Given the description of an element on the screen output the (x, y) to click on. 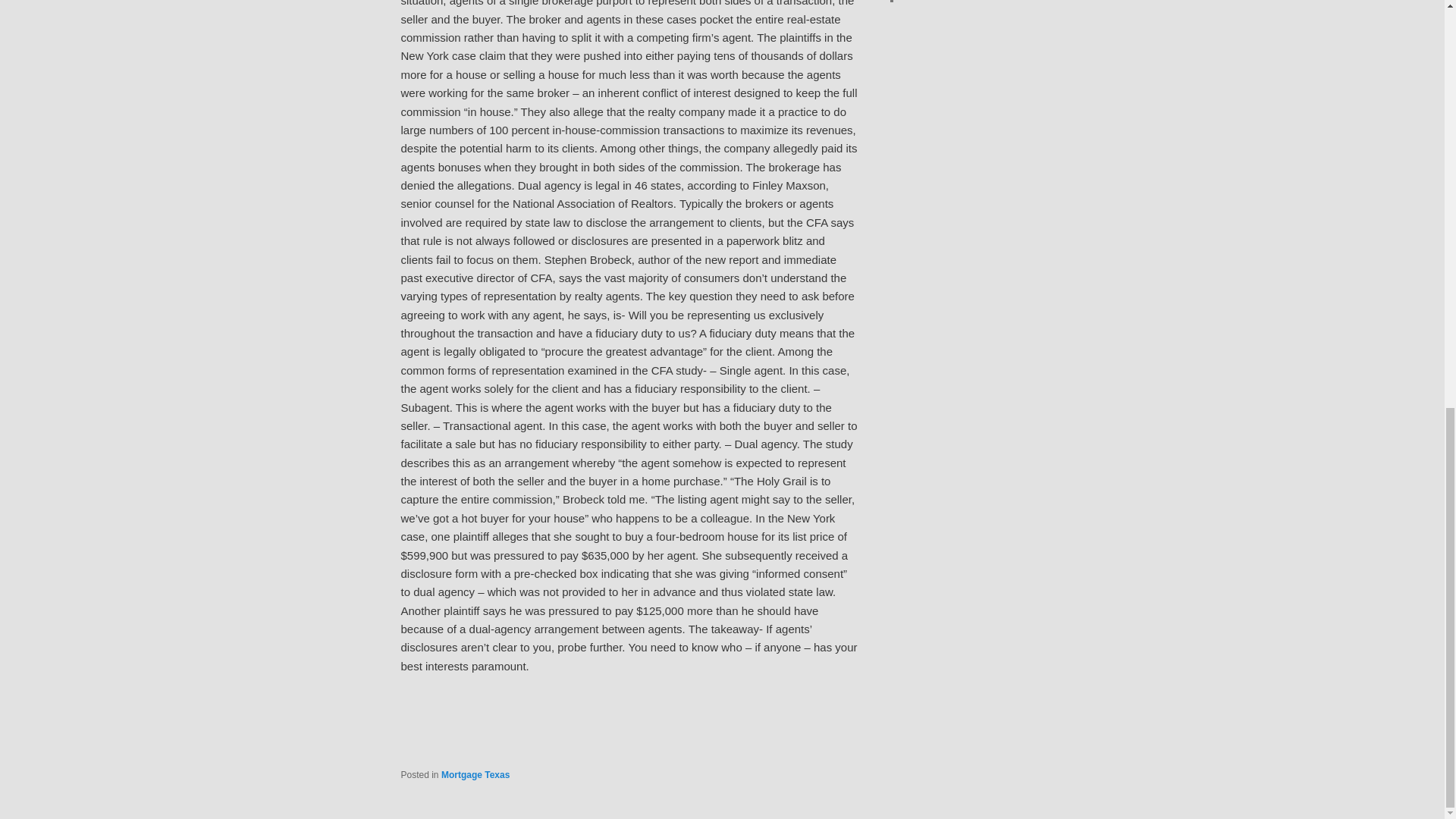
Mortgage Texas (475, 774)
View all posts in Mortgage Texas (475, 774)
